Given the description of an element on the screen output the (x, y) to click on. 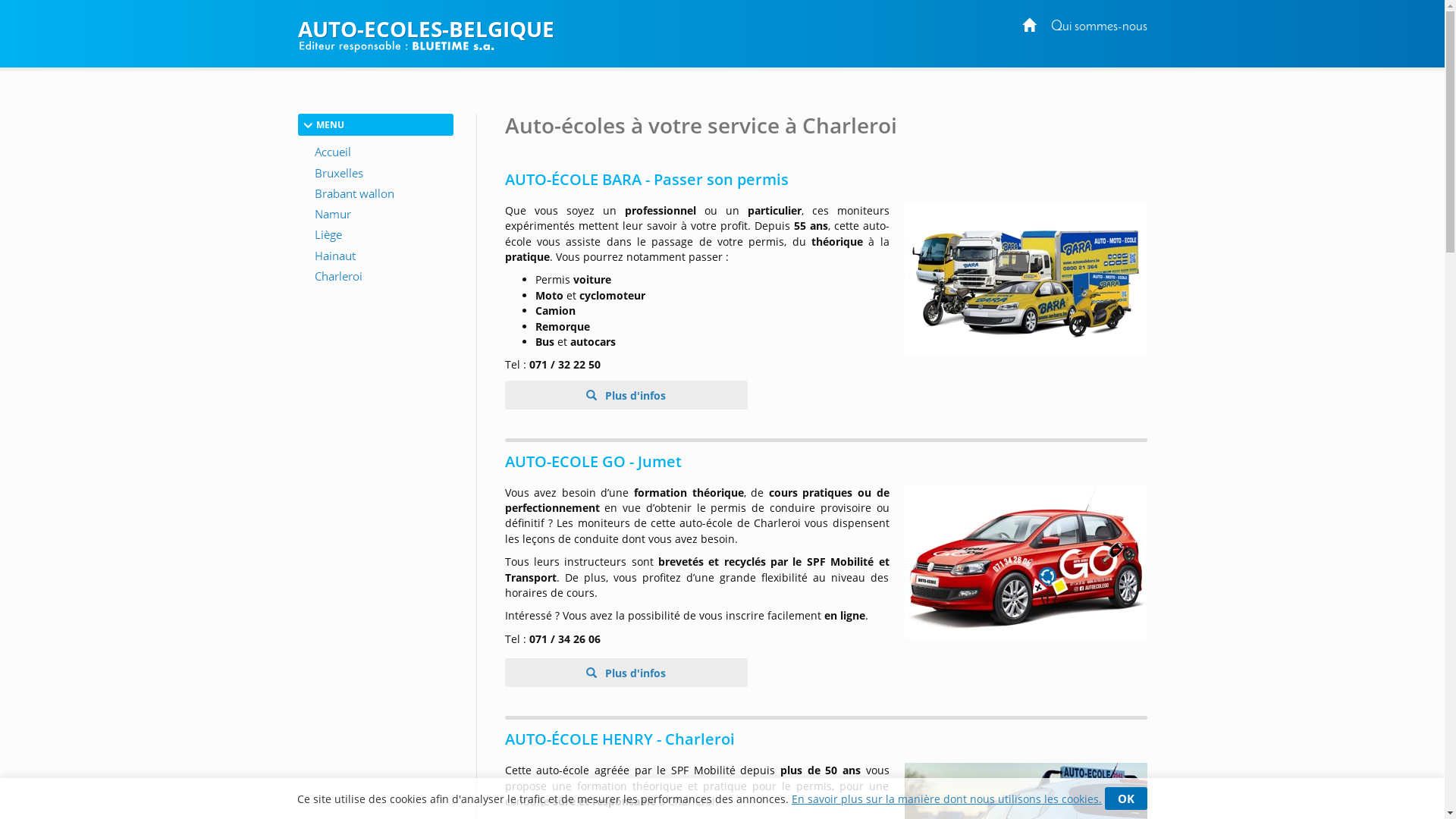
Plus d'infos Element type: text (626, 672)
AUTO-ECOLES-BELGIQUE Element type: text (721, 28)
Plus d'infos Element type: text (626, 394)
Qui sommes-nous Element type: text (1099, 26)
